Given the description of an element on the screen output the (x, y) to click on. 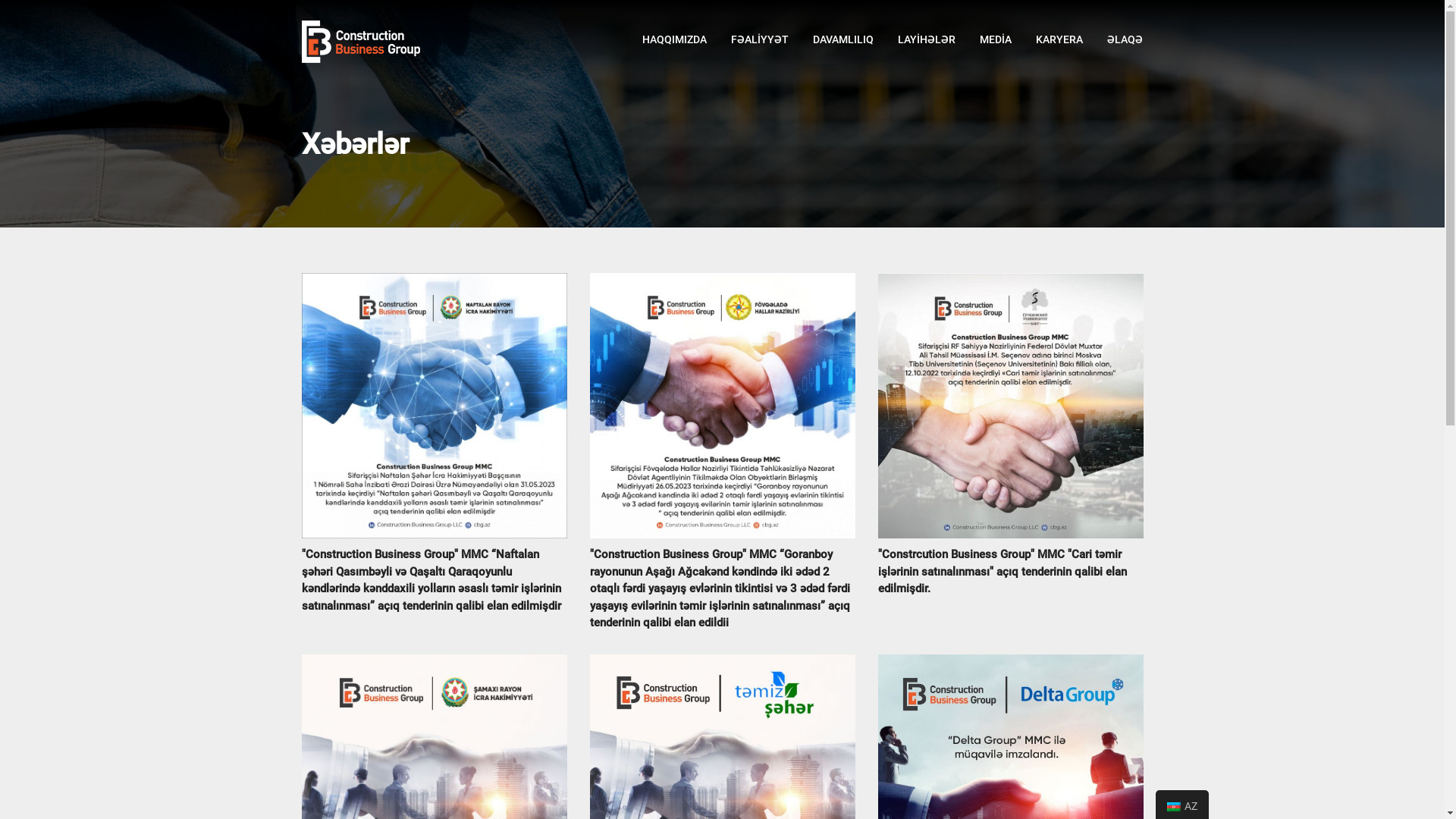
KARYERA Element type: text (1059, 39)
MEDIA Element type: text (995, 39)
DAVAMLILIQ Element type: text (842, 39)
HAQQIMIZDA Element type: text (673, 39)
